Given the description of an element on the screen output the (x, y) to click on. 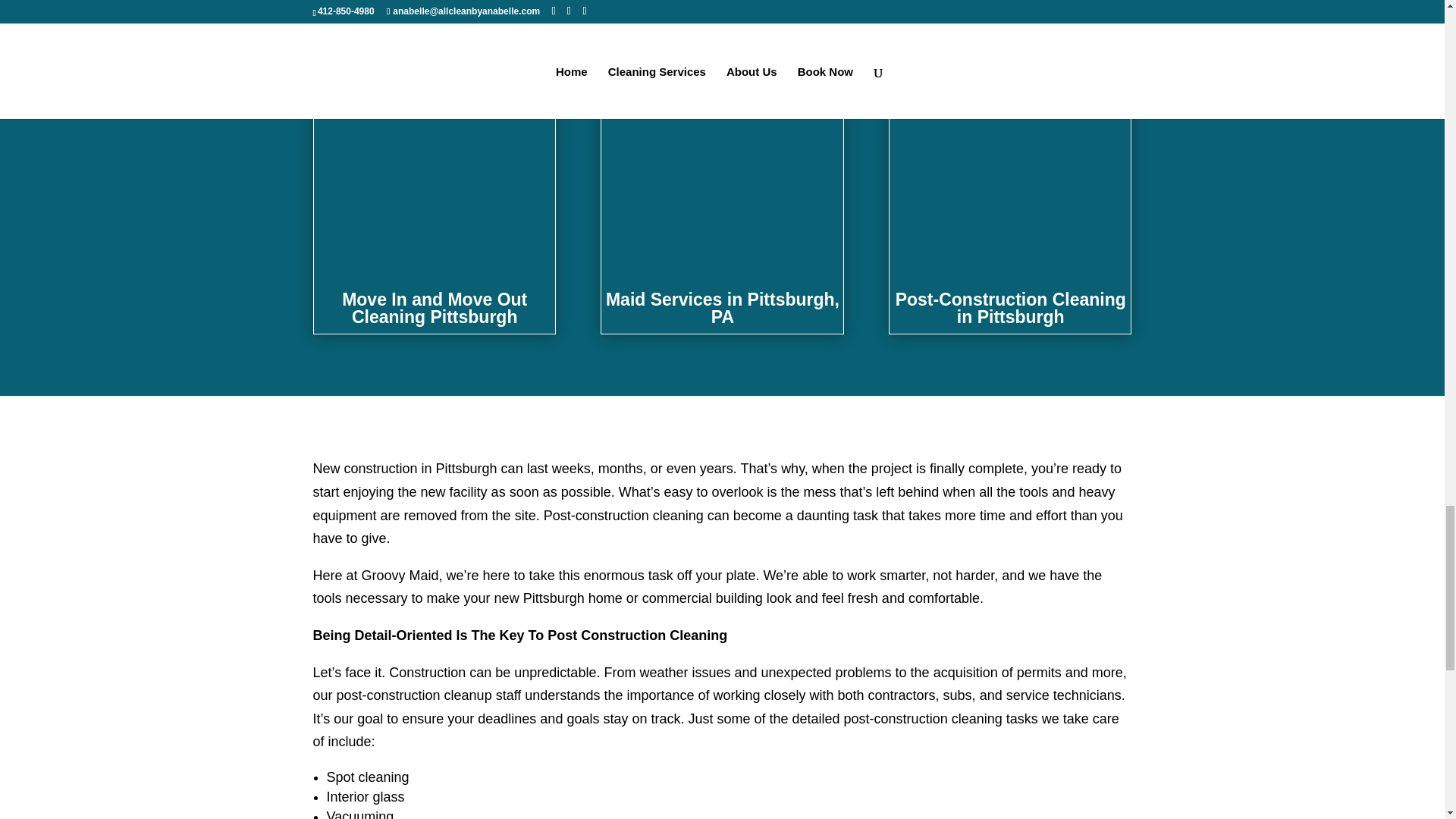
Post-Construction Cleaning in Pittsburgh (1010, 307)
Maid Services in Pittsburgh, PA (722, 307)
Move In and Move Out Cleaning Pittsburgh (434, 307)
Standard House Cleaning Pittsburgh (434, 39)
House Deep Cleaning in Pittsburgh (722, 38)
Apartment Cleaning Serving Pittsburgh (1009, 39)
